Given the description of an element on the screen output the (x, y) to click on. 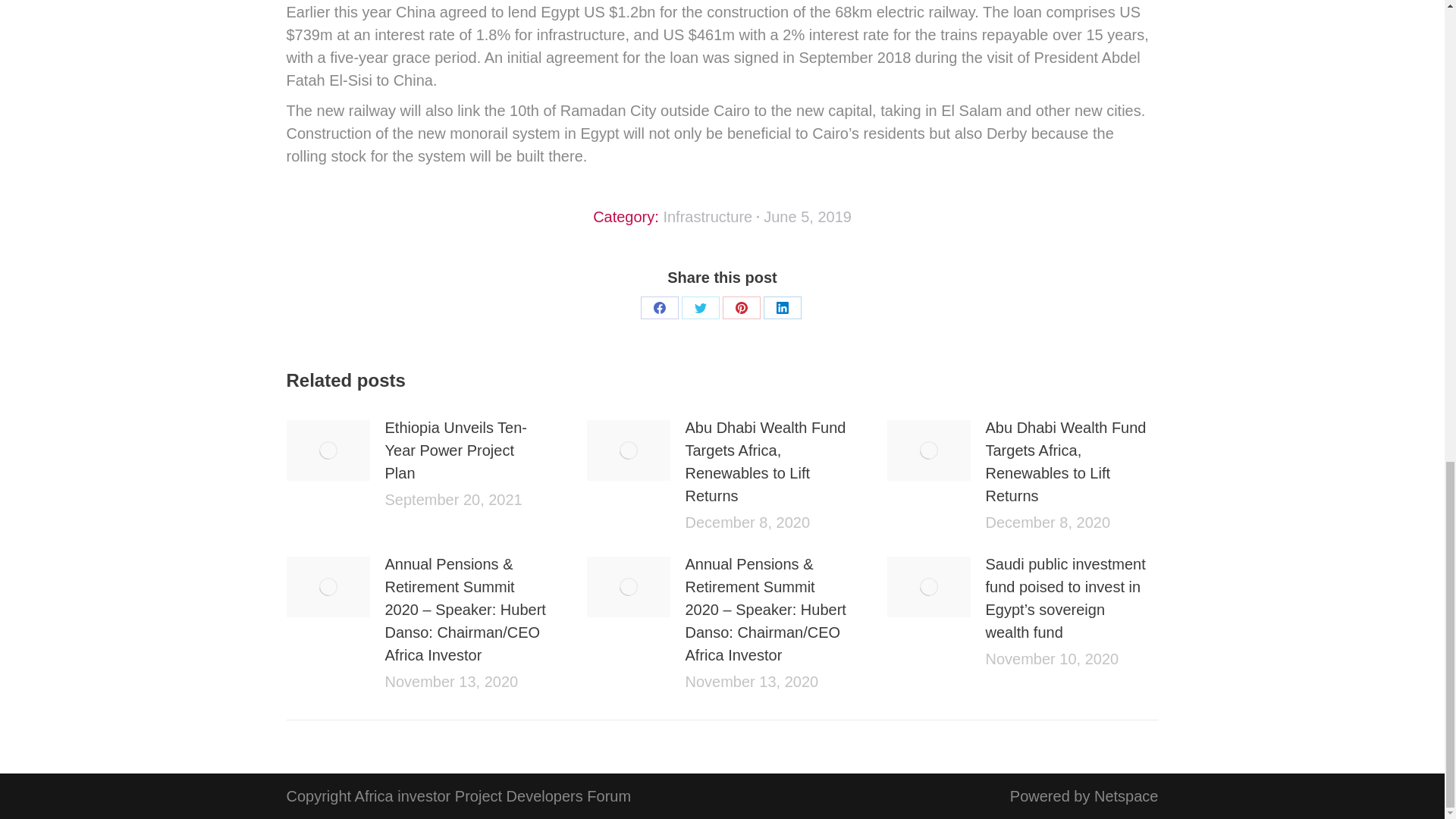
Facebook (659, 307)
Twitter (700, 307)
7:39 am (806, 216)
